Given the description of an element on the screen output the (x, y) to click on. 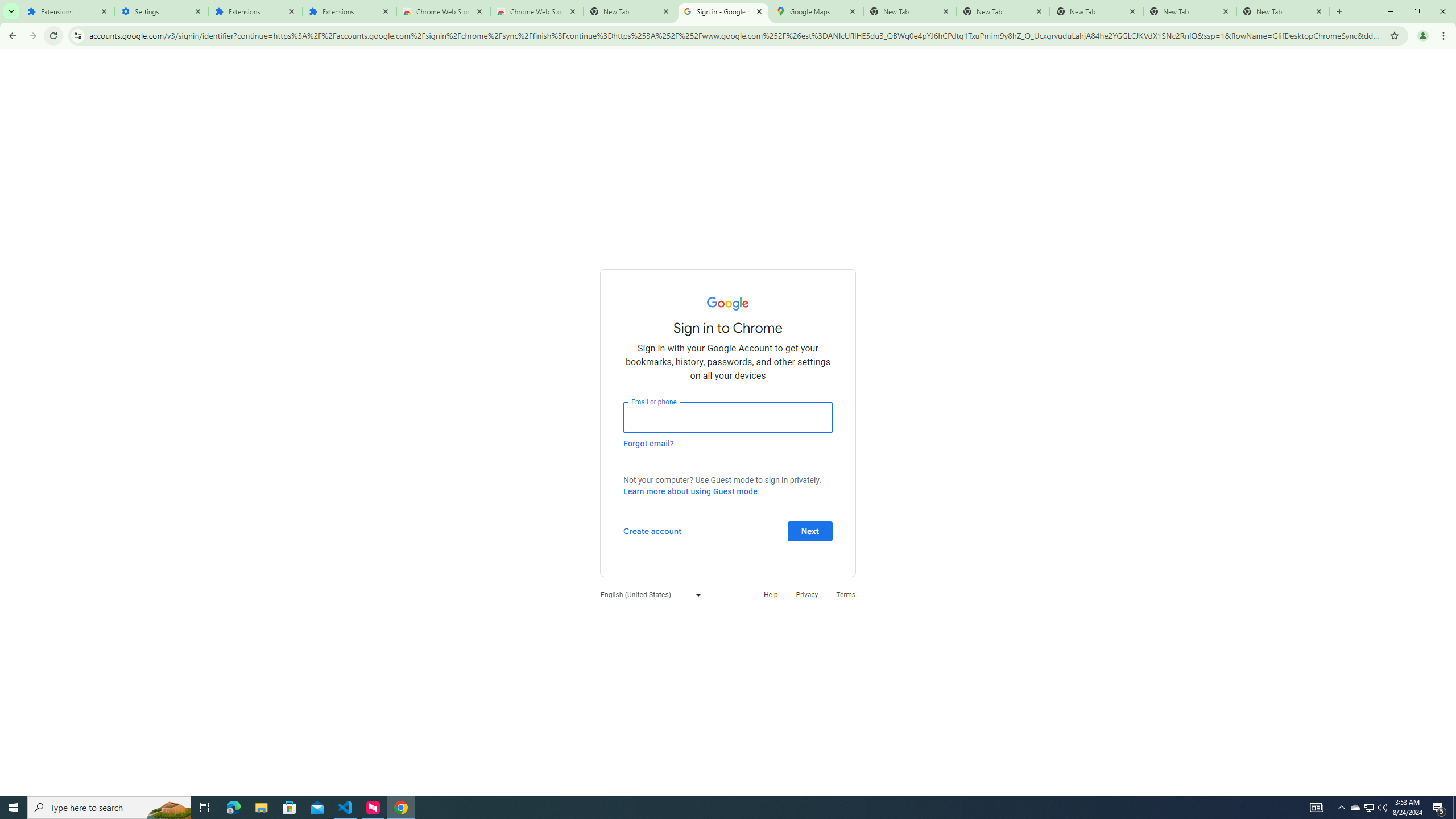
Learn more about using Guest mode (689, 491)
Forgot email? (648, 443)
